Given the description of an element on the screen output the (x, y) to click on. 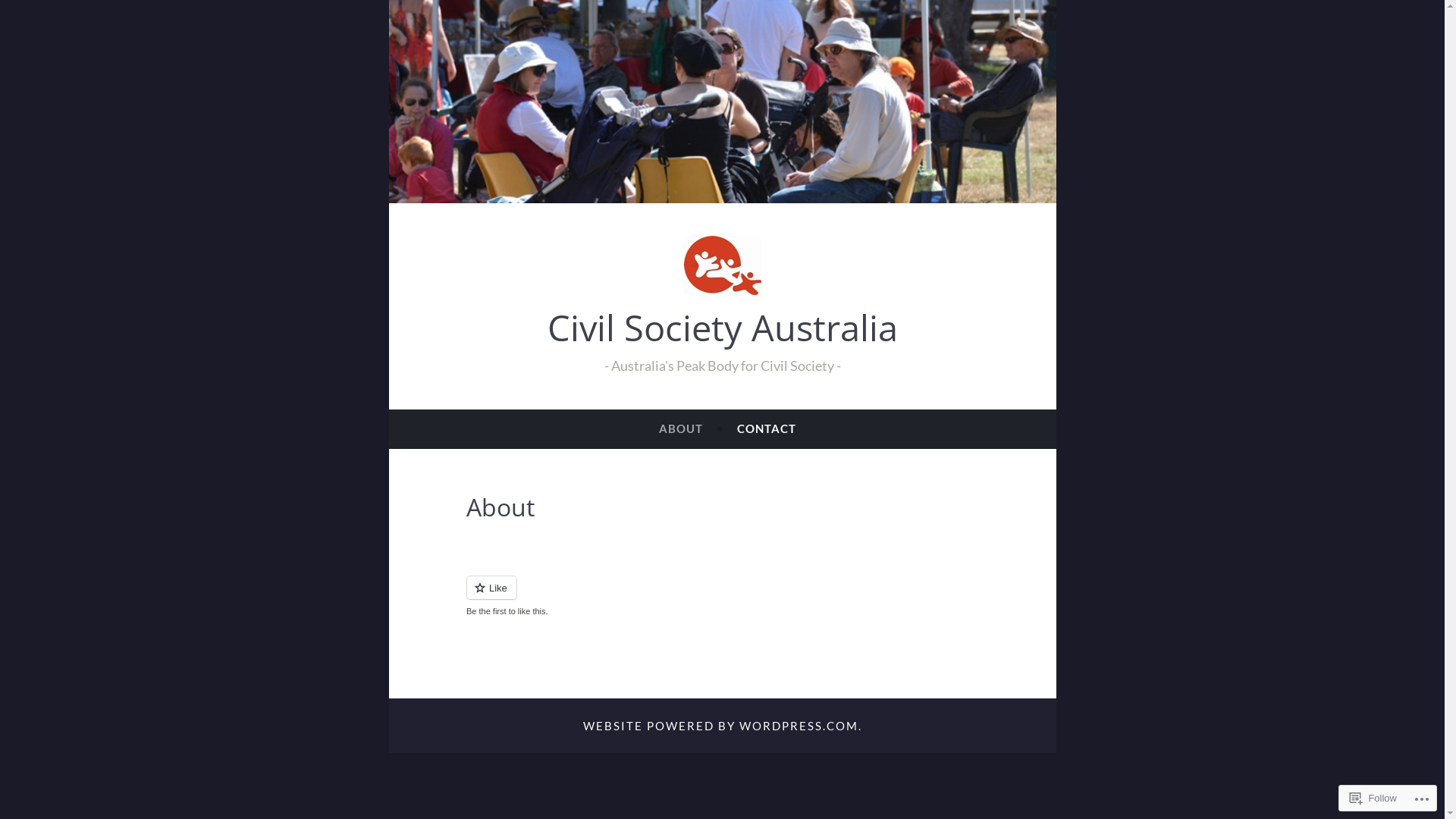
ABOUT Element type: text (680, 428)
Civil Society Australia Element type: text (722, 327)
Follow Element type: text (1372, 797)
Like or Reblog Element type: hover (722, 596)
CONTACT Element type: text (766, 428)
WEBSITE POWERED BY WORDPRESS.COM Element type: text (719, 725)
